Given the description of an element on the screen output the (x, y) to click on. 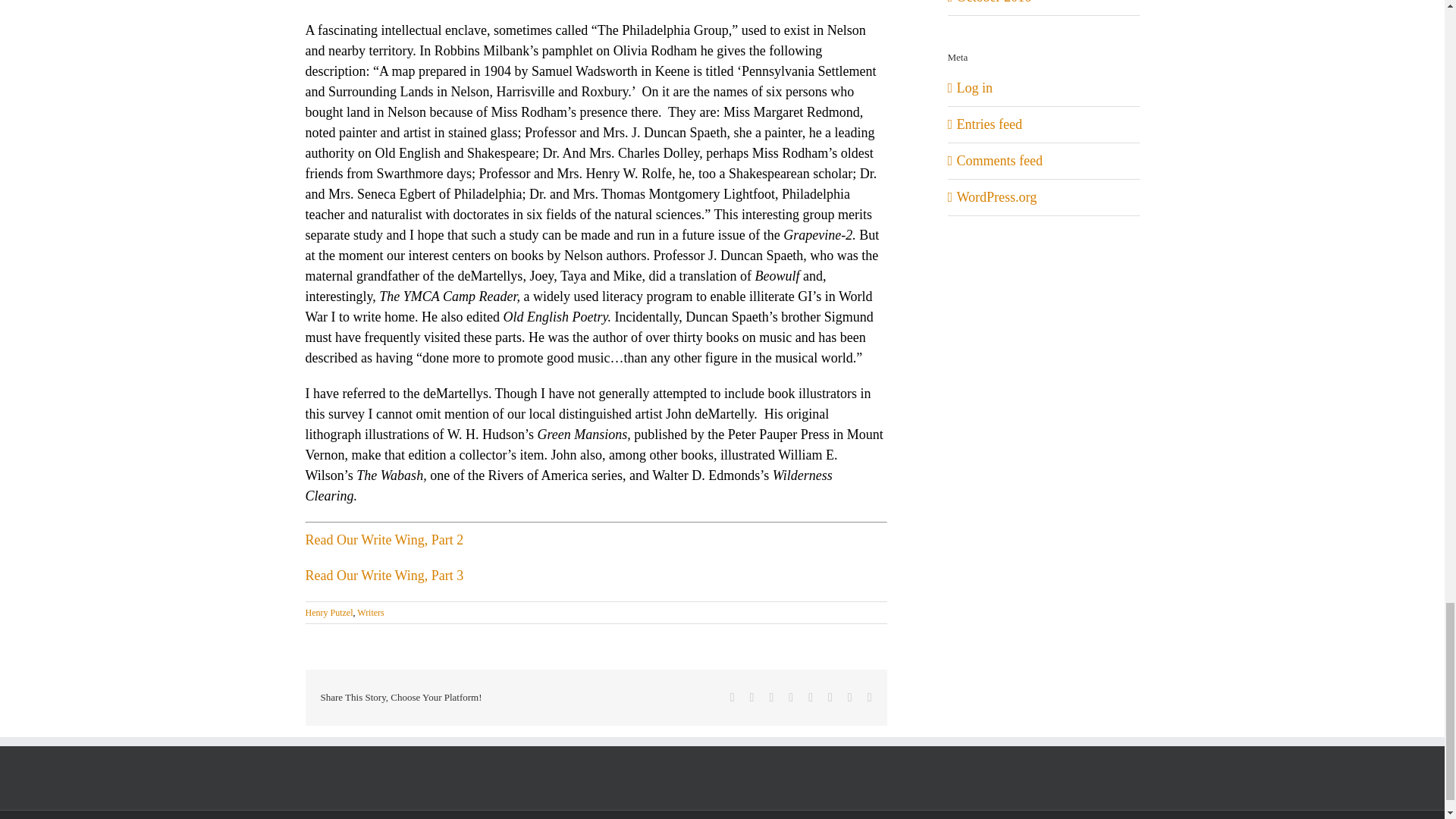
Facebook (732, 697)
Writers (370, 612)
Read Our Write Wing, Part 3 (383, 575)
Henry Putzel (328, 612)
Read Our Write Wing, Part 2 (383, 539)
